Given the description of an element on the screen output the (x, y) to click on. 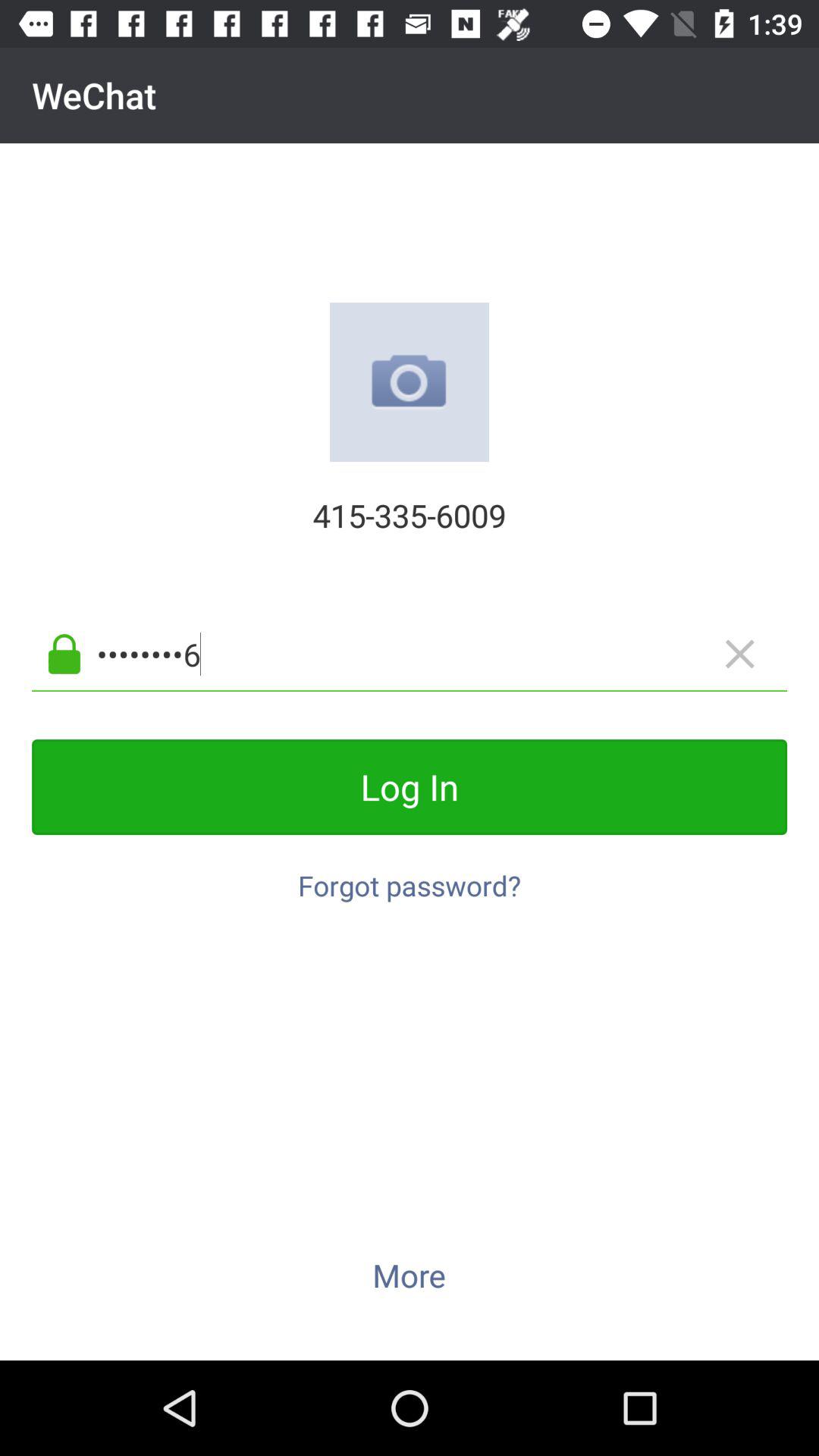
turn off item above forgot password? (409, 786)
